Given the description of an element on the screen output the (x, y) to click on. 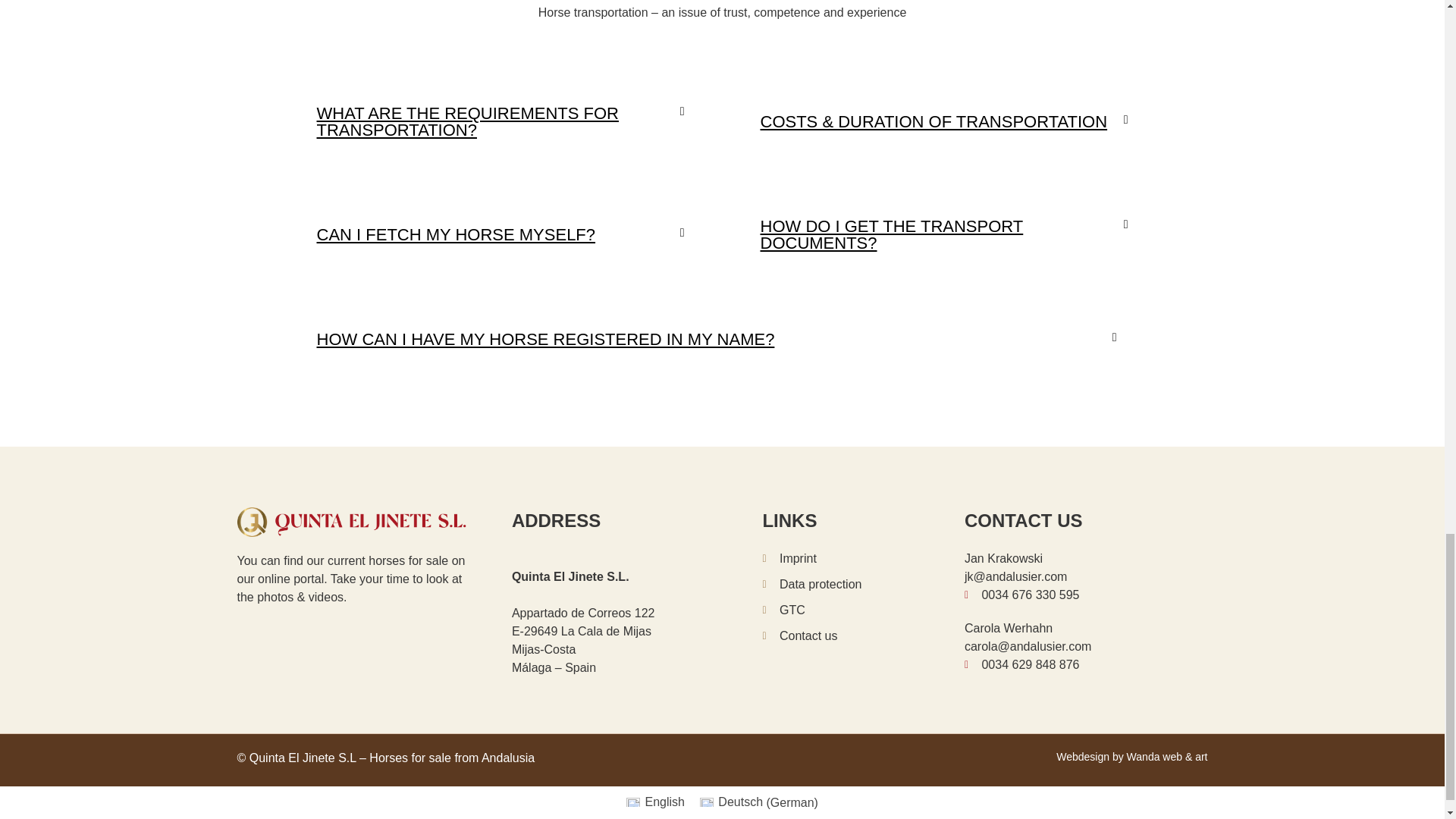
Data protection (862, 584)
HOW CAN I HAVE MY HORSE REGISTERED IN MY NAME? (545, 339)
HOW DO I GET THE TRANSPORT DOCUMENTS? (891, 234)
GTC (862, 610)
CAN I FETCH MY HORSE MYSELF? (456, 234)
Contact us (862, 636)
WHAT ARE THE REQUIREMENTS FOR TRANSPORTATION? (467, 121)
Imprint (862, 558)
